Given the description of an element on the screen output the (x, y) to click on. 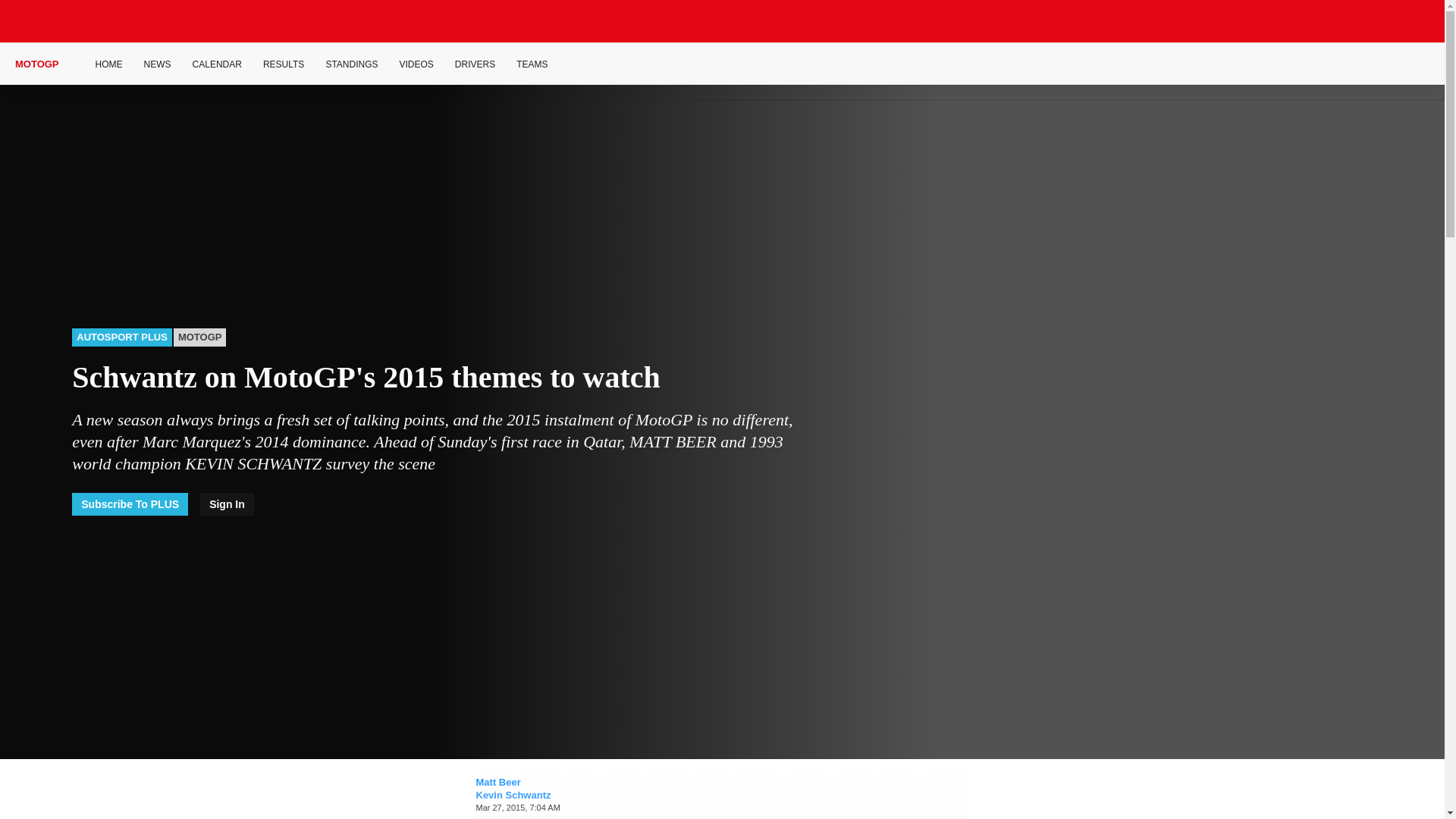
DRIVERS (474, 64)
RESULTS (283, 64)
CALENDAR (216, 64)
STANDINGS (350, 64)
